Given the description of an element on the screen output the (x, y) to click on. 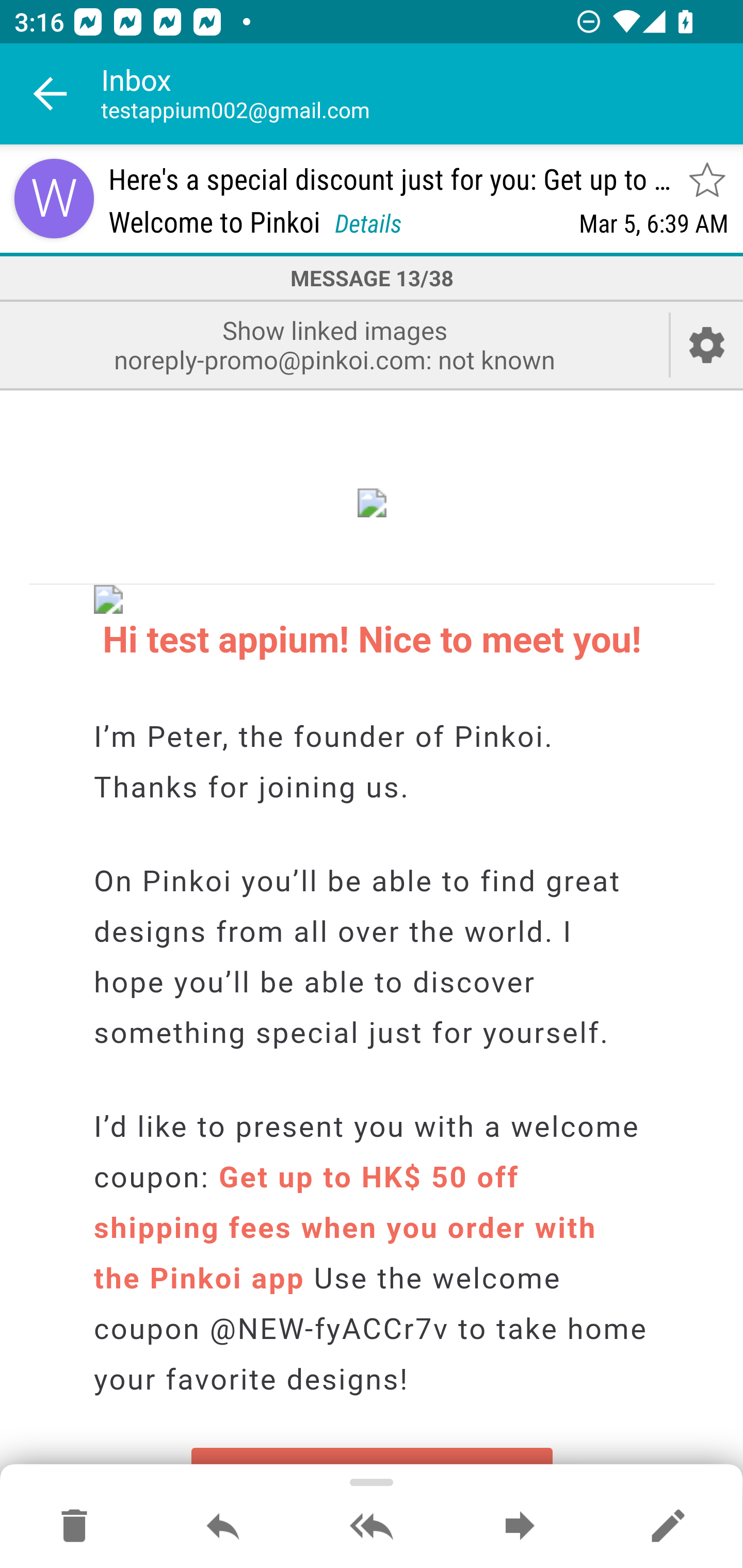
Navigate up (50, 93)
Inbox testappium002@gmail.com (422, 93)
Sender contact button (53, 198)
Account setup (706, 344)
data: (372, 500)
Move to Deleted (74, 1527)
Reply (222, 1527)
Reply all (371, 1527)
Forward (519, 1527)
Reply as new (667, 1527)
